Given the description of an element on the screen output the (x, y) to click on. 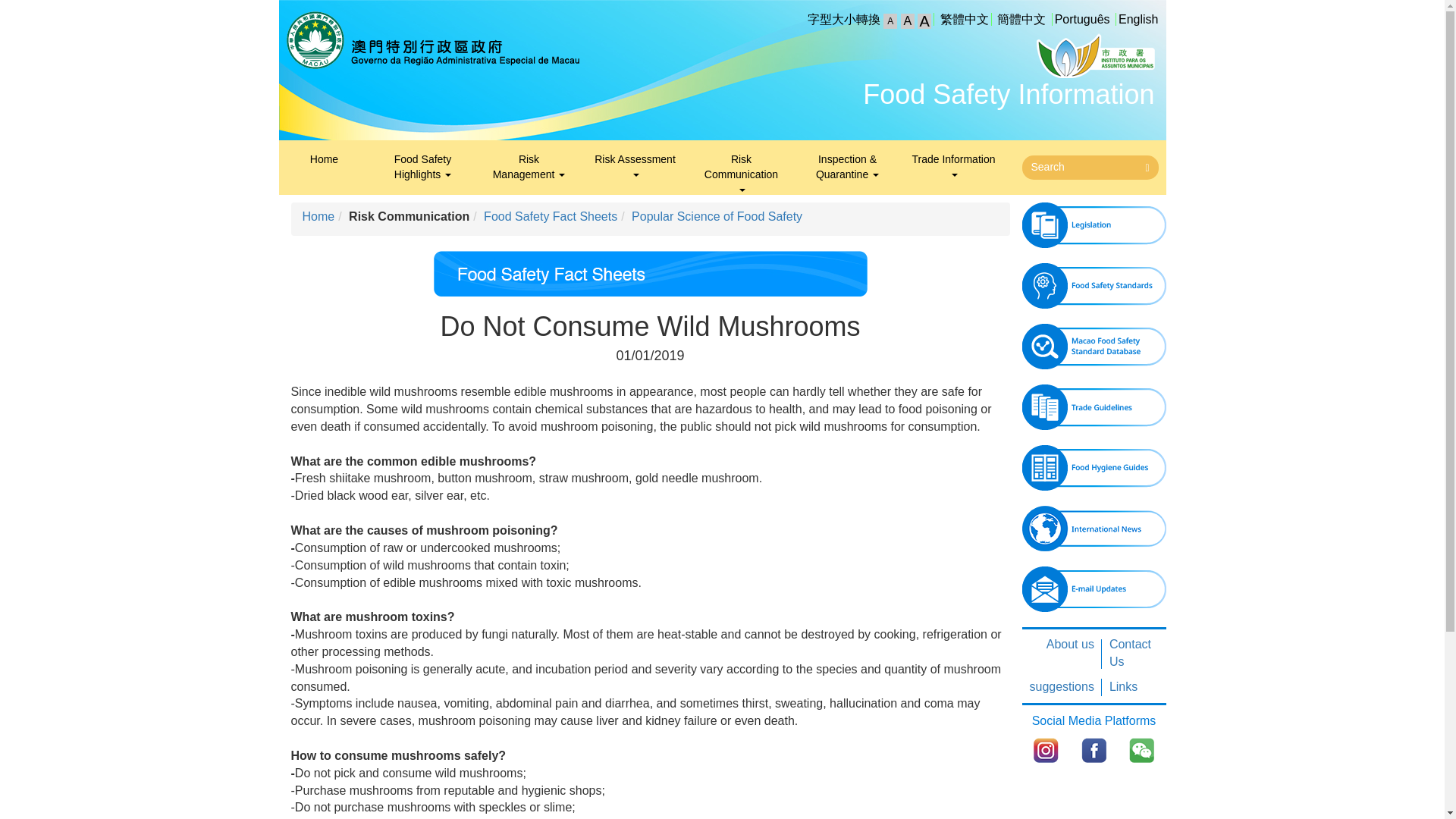
A (889, 20)
A (924, 20)
A (907, 20)
English (1137, 19)
